Given the description of an element on the screen output the (x, y) to click on. 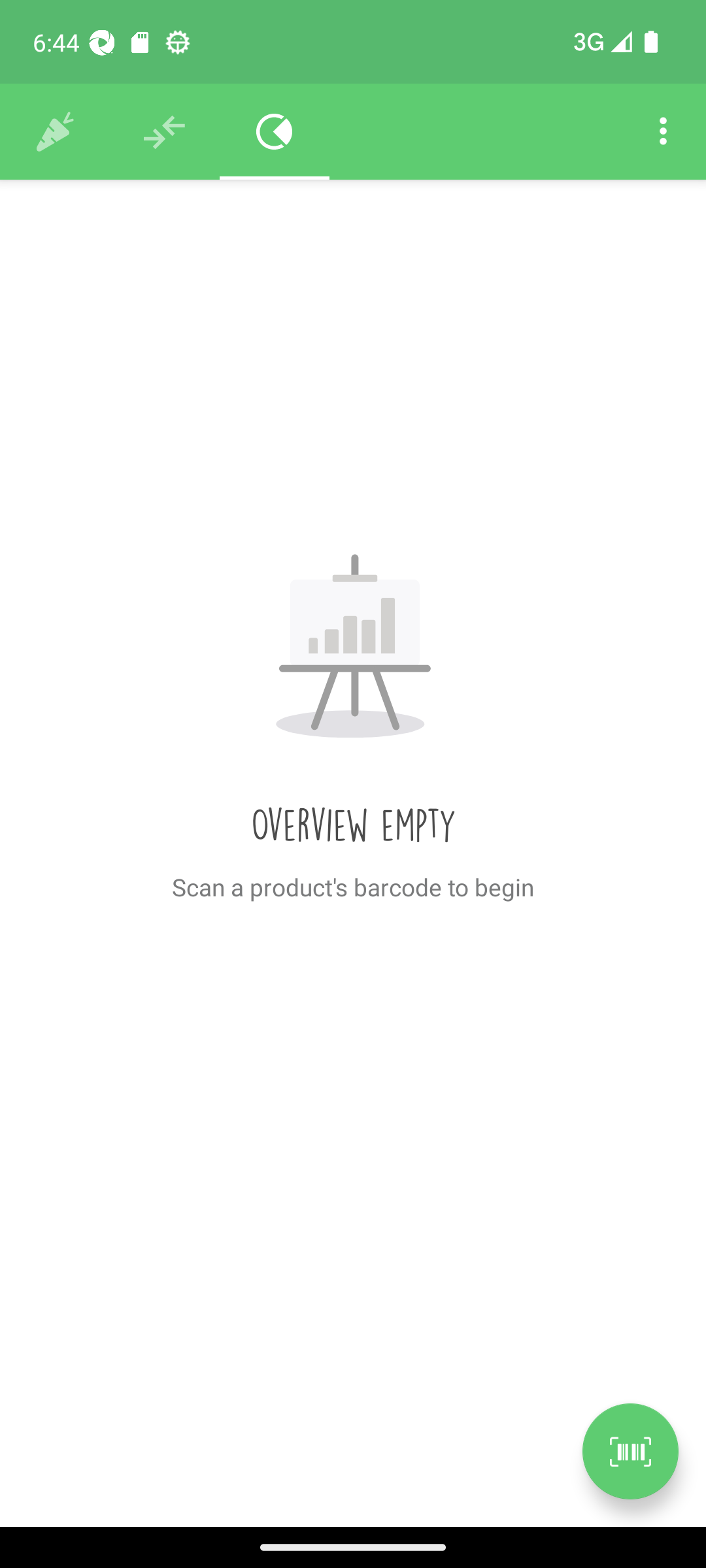
History (55, 131)
Recommendations (164, 131)
Settings (663, 131)
Scan a product (630, 1451)
